Given the description of an element on the screen output the (x, y) to click on. 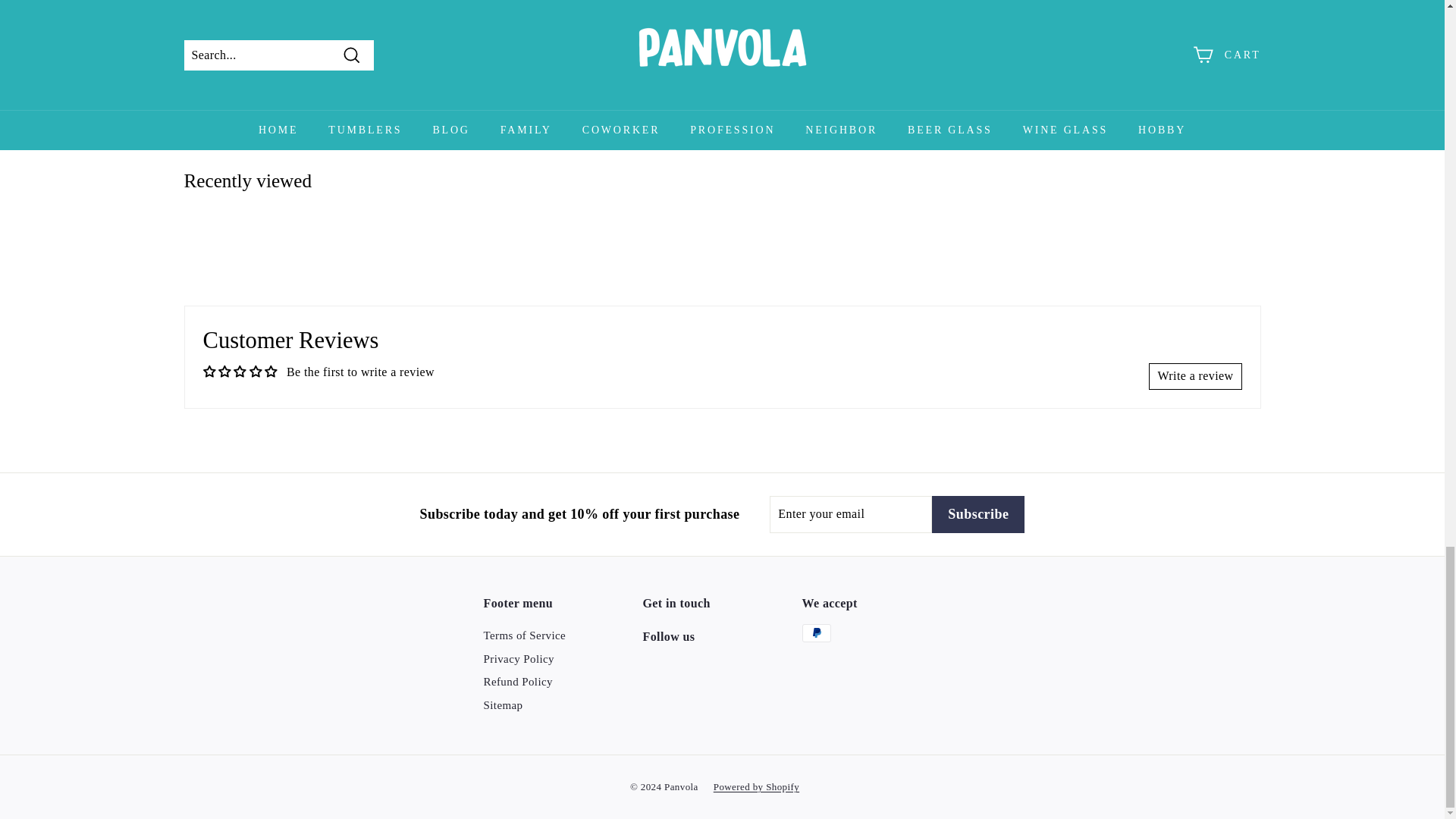
PayPal (816, 633)
